Given the description of an element on the screen output the (x, y) to click on. 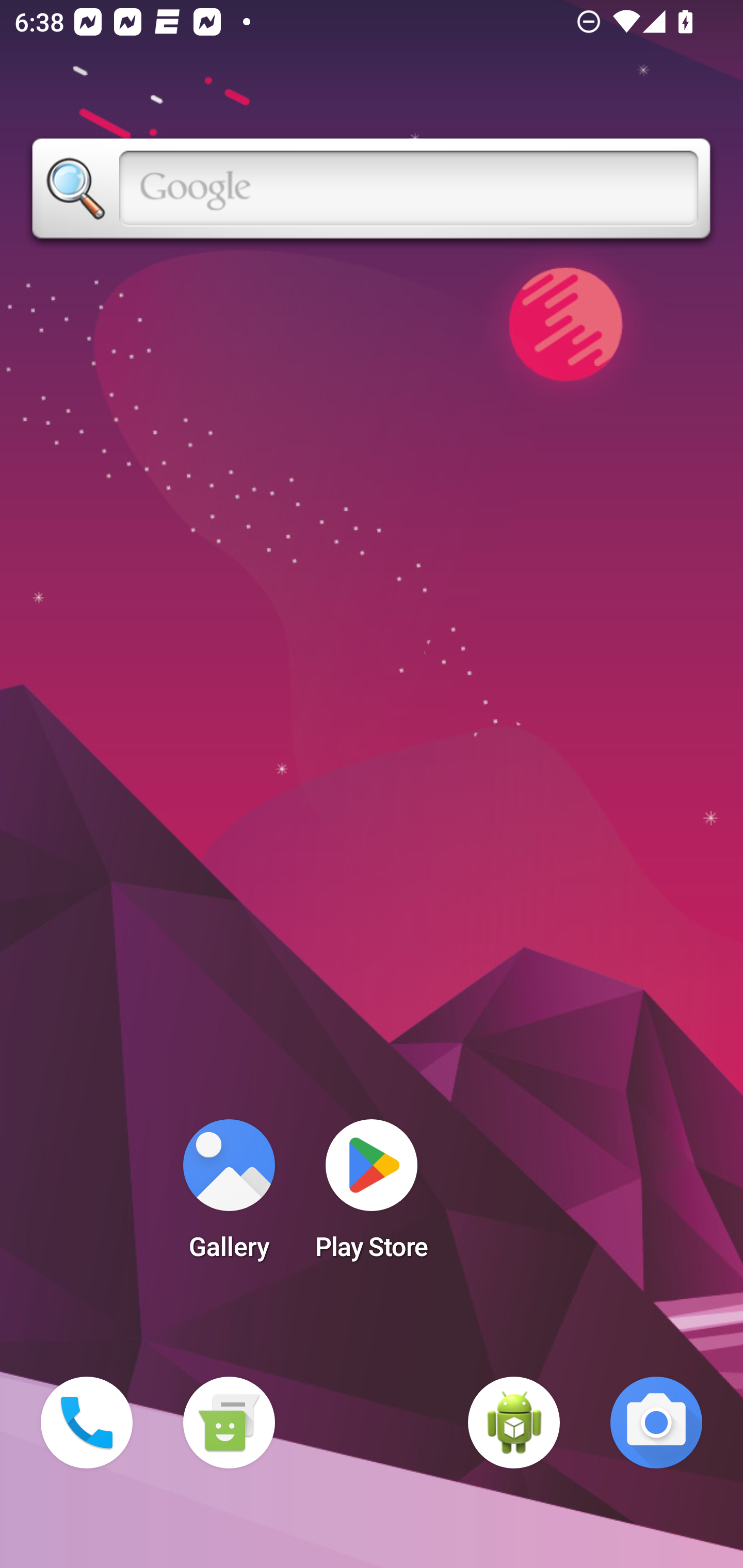
Gallery (228, 1195)
Play Store (371, 1195)
Phone (86, 1422)
Messaging (228, 1422)
WebView Browser Tester (513, 1422)
Camera (656, 1422)
